Given the description of an element on the screen output the (x, y) to click on. 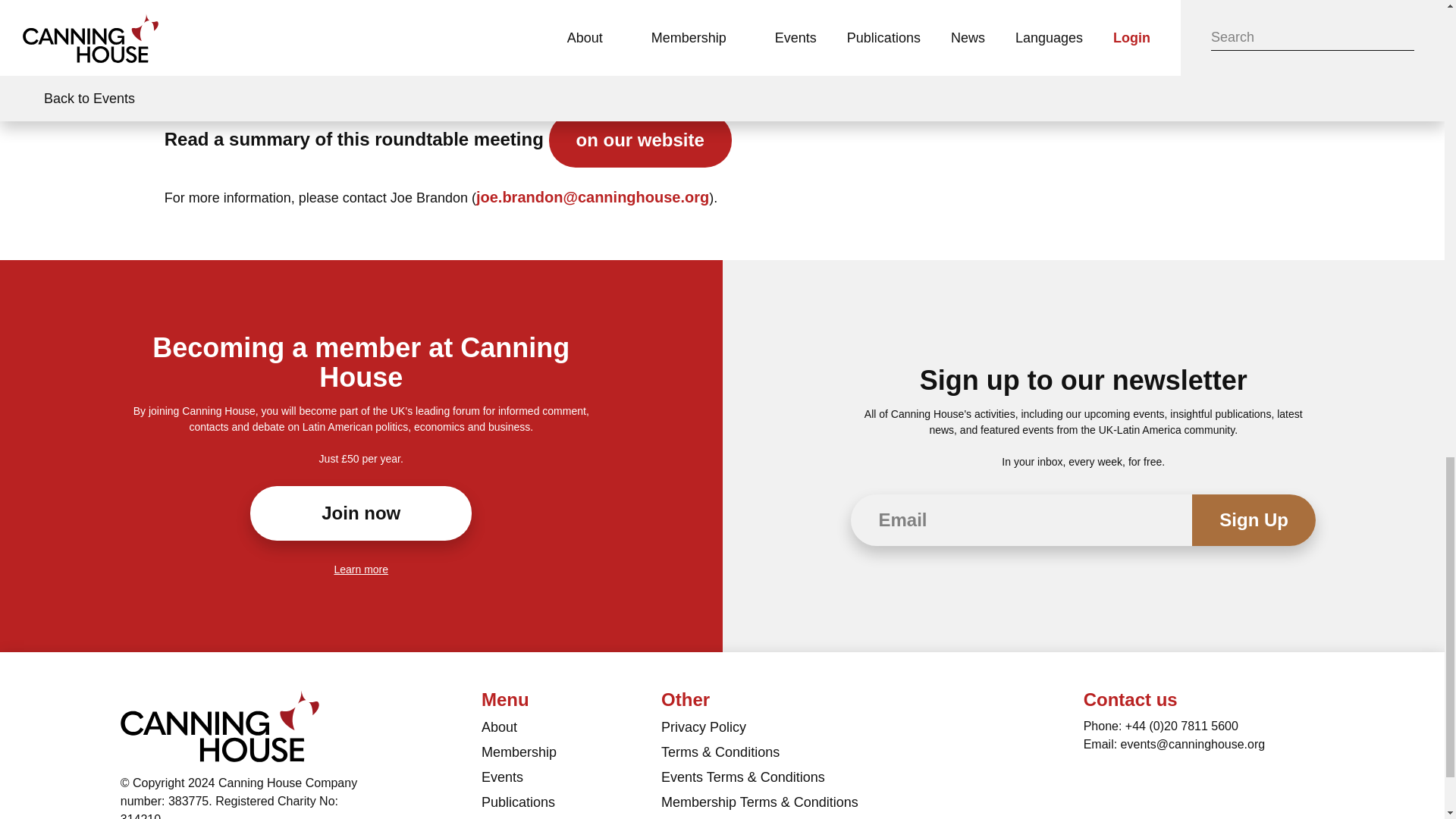
Membership (571, 754)
Sign Up (1254, 520)
Canning House homepage (219, 726)
Publications (571, 804)
on our website (640, 140)
Learn more (360, 569)
Join now (360, 513)
Learn more (360, 569)
About (571, 729)
Join now (360, 513)
Privacy Policy (811, 729)
Events (571, 779)
